Given the description of an element on the screen output the (x, y) to click on. 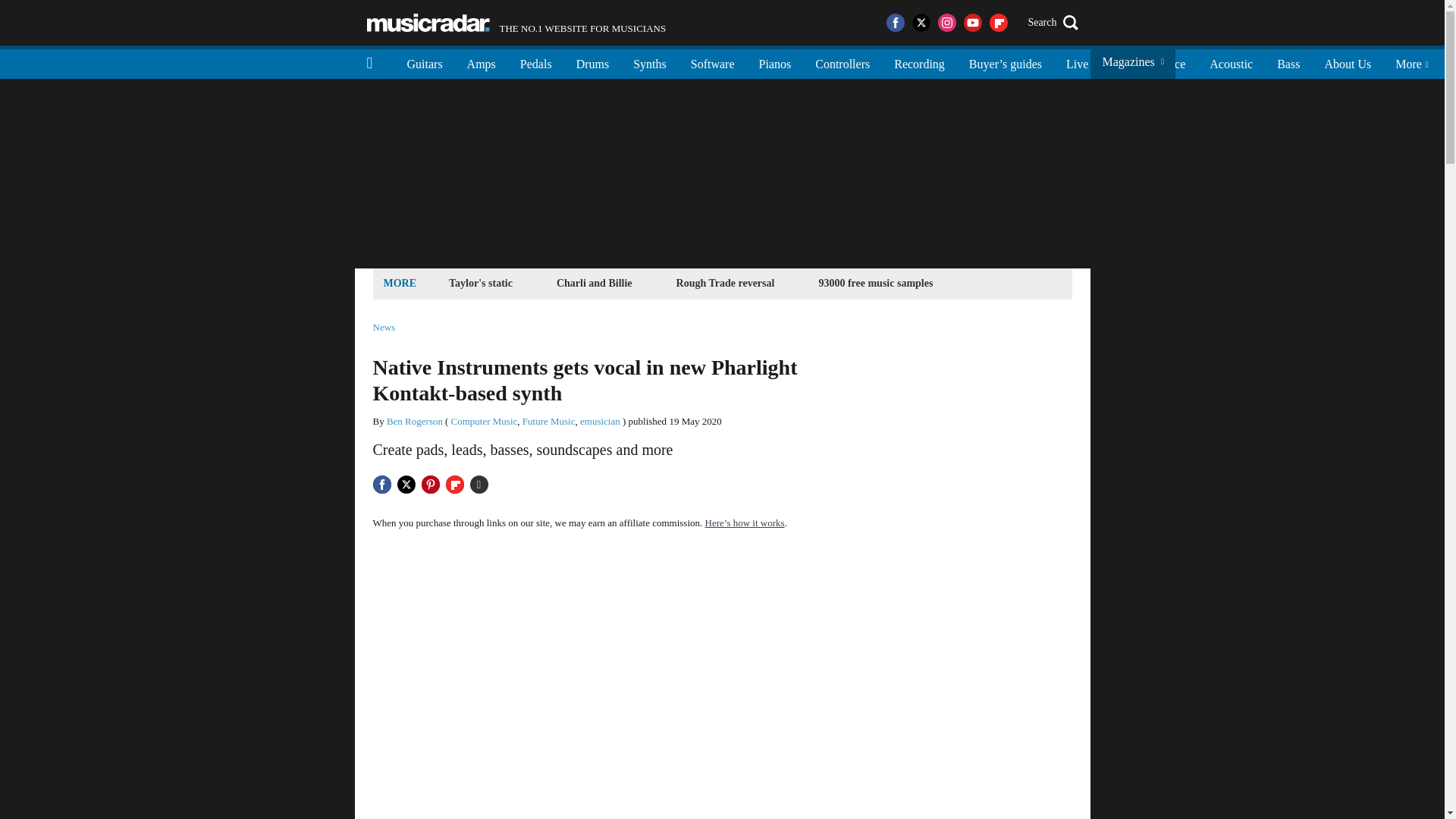
Rough Trade reversal (725, 282)
Synths (649, 61)
Advice (1167, 61)
Pianos (774, 61)
Recording (919, 61)
Guitars (424, 61)
Software (712, 61)
Amps (481, 61)
93000 free music samples (874, 282)
Live (1077, 61)
